Given the description of an element on the screen output the (x, y) to click on. 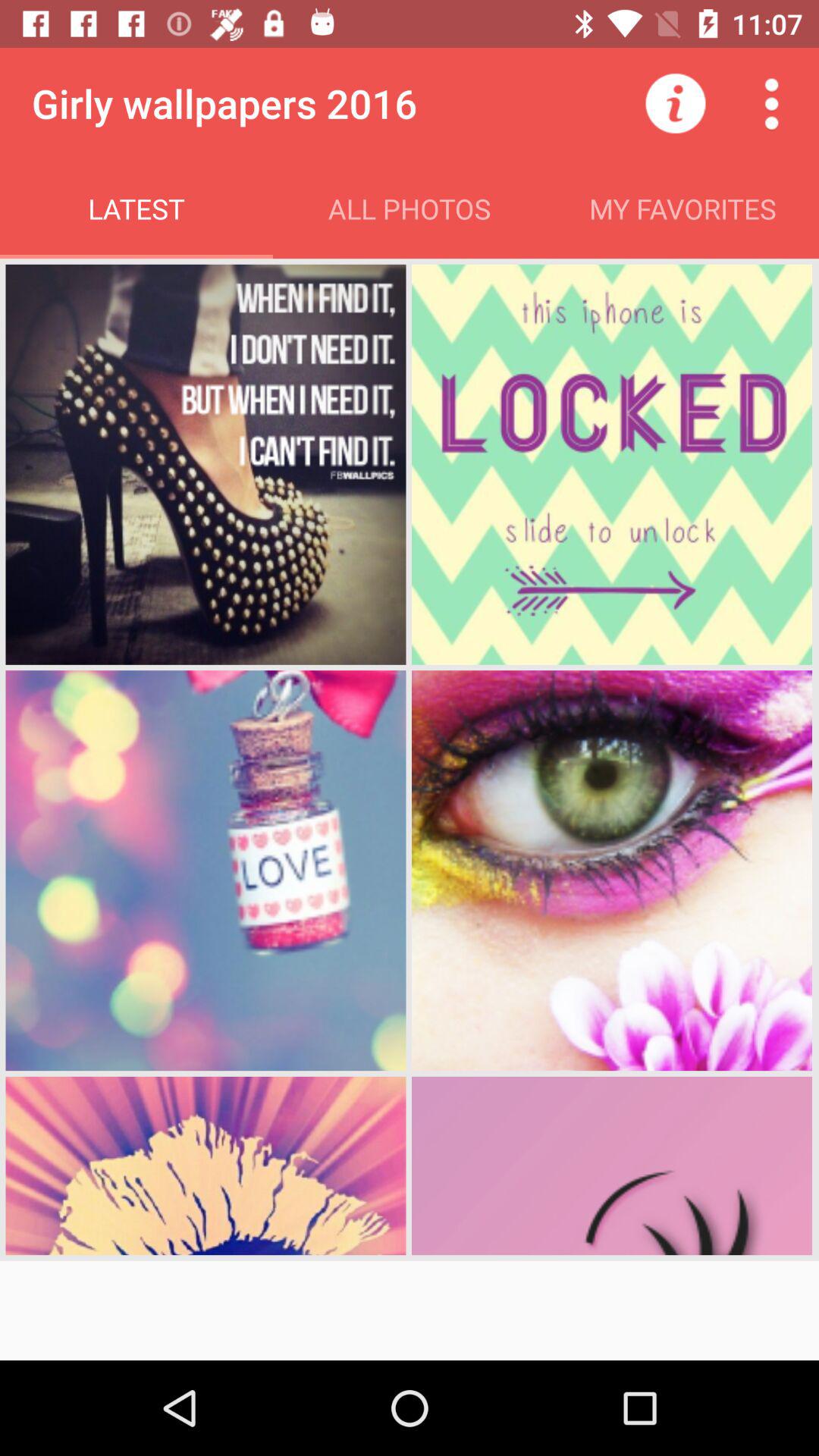
share button (771, 103)
